Given the description of an element on the screen output the (x, y) to click on. 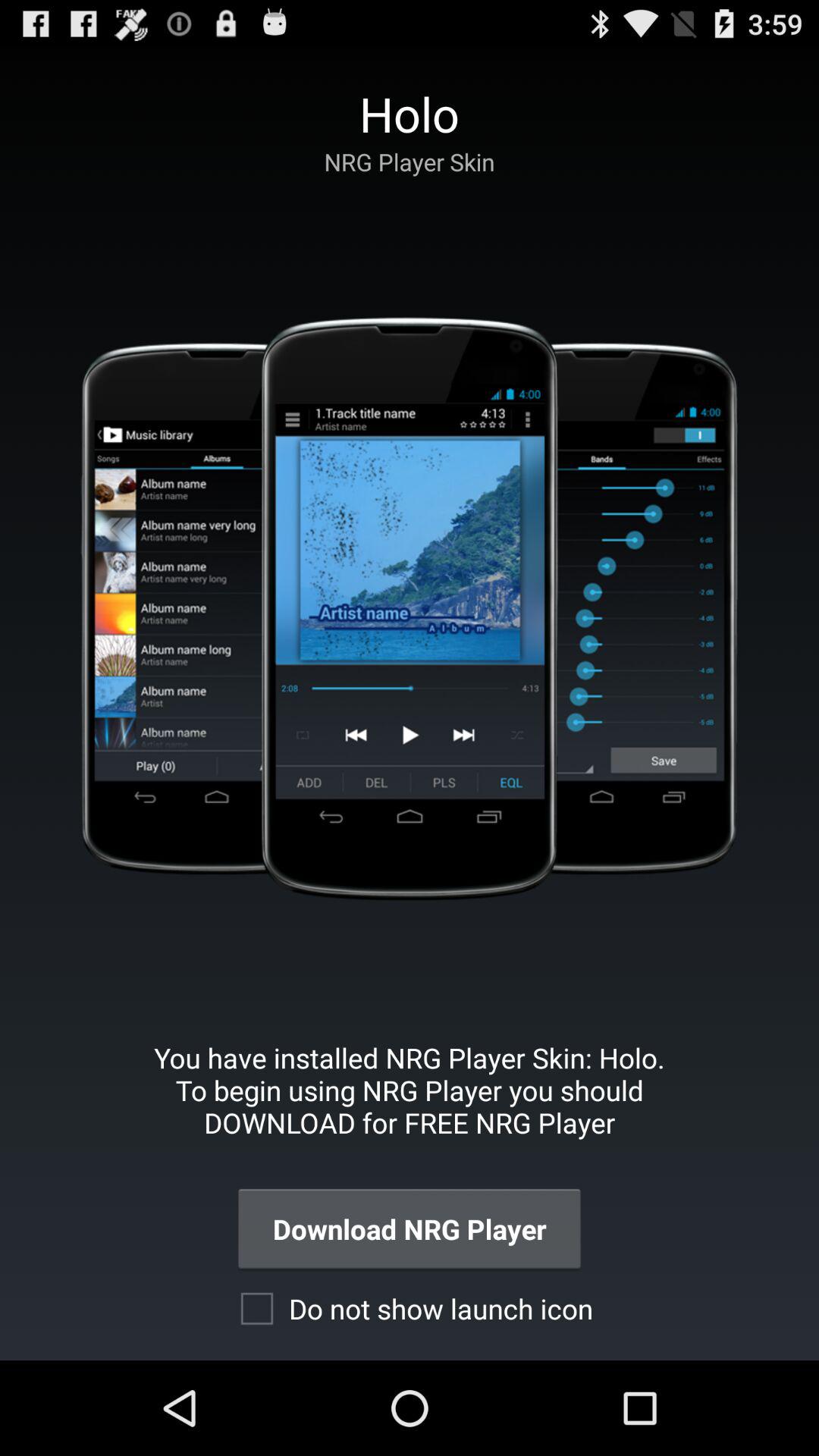
open the item at the center (408, 608)
